Given the description of an element on the screen output the (x, y) to click on. 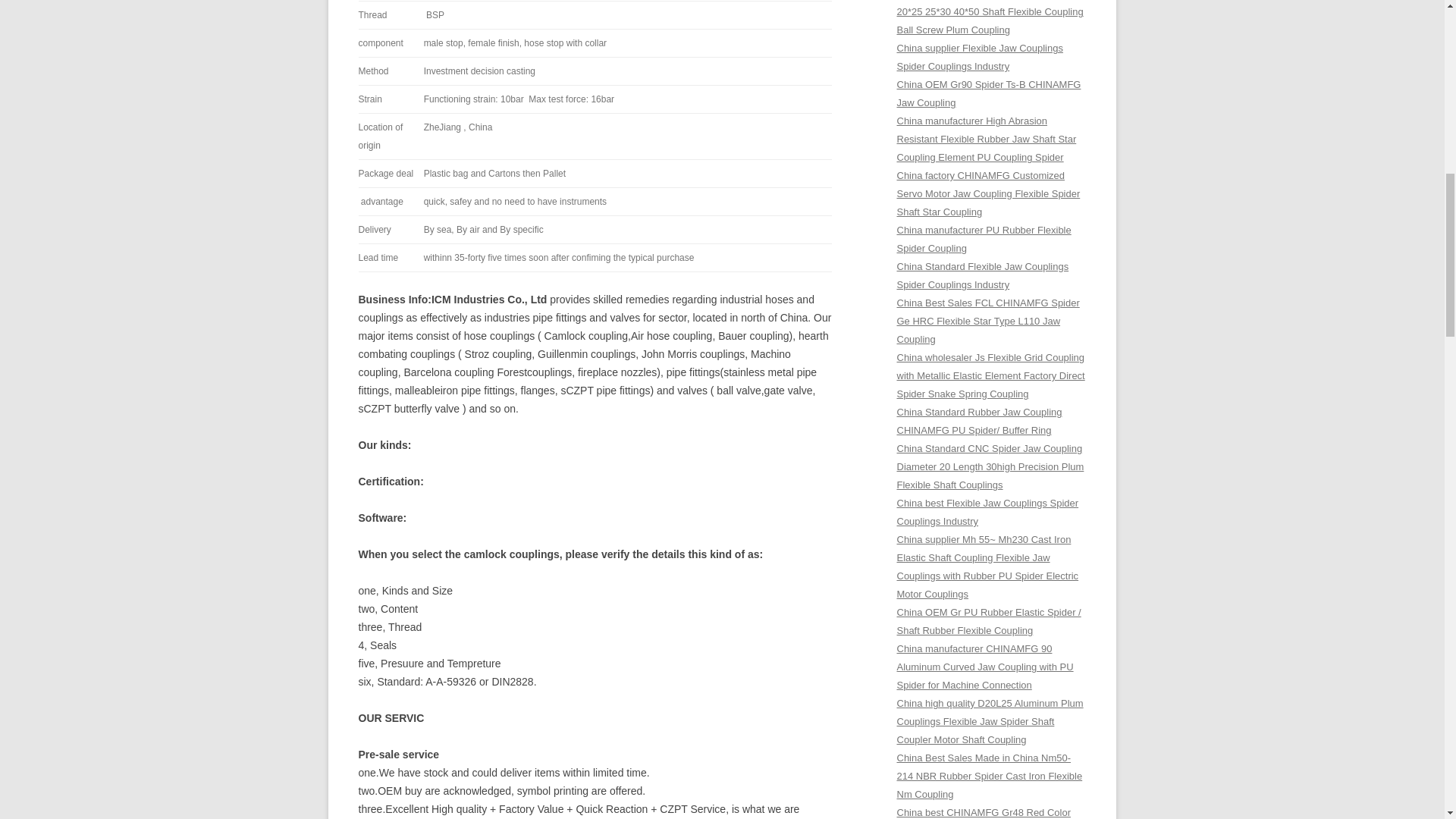
China manufacturer PU Rubber Flexible Spider Coupling (983, 238)
China OEM Gr90 Spider Ts-B CHINAMFG Jaw Coupling (988, 93)
China best Flexible Jaw Couplings Spider Couplings Industry (987, 512)
